Given the description of an element on the screen output the (x, y) to click on. 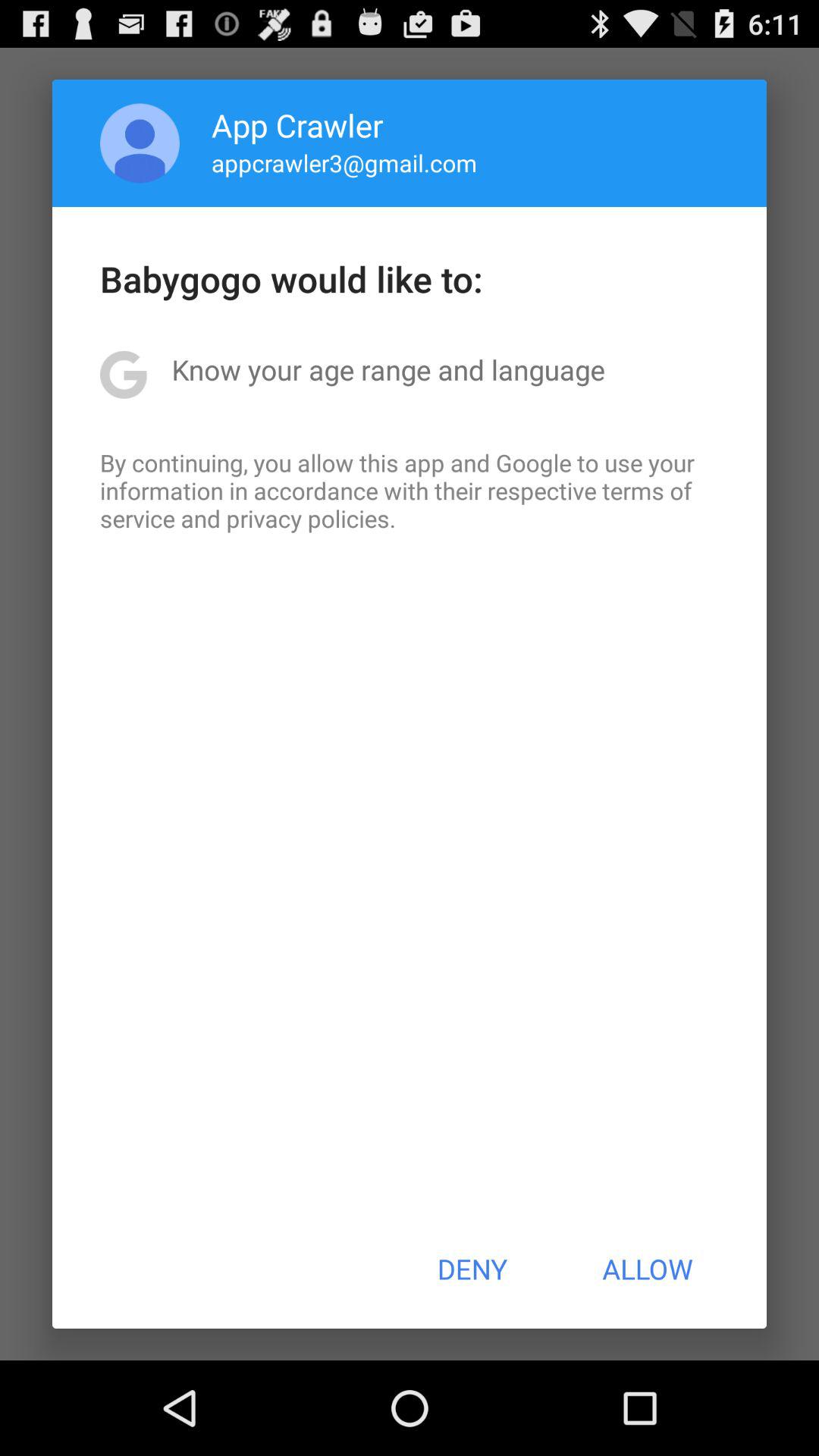
turn on button to the left of allow item (471, 1268)
